Given the description of an element on the screen output the (x, y) to click on. 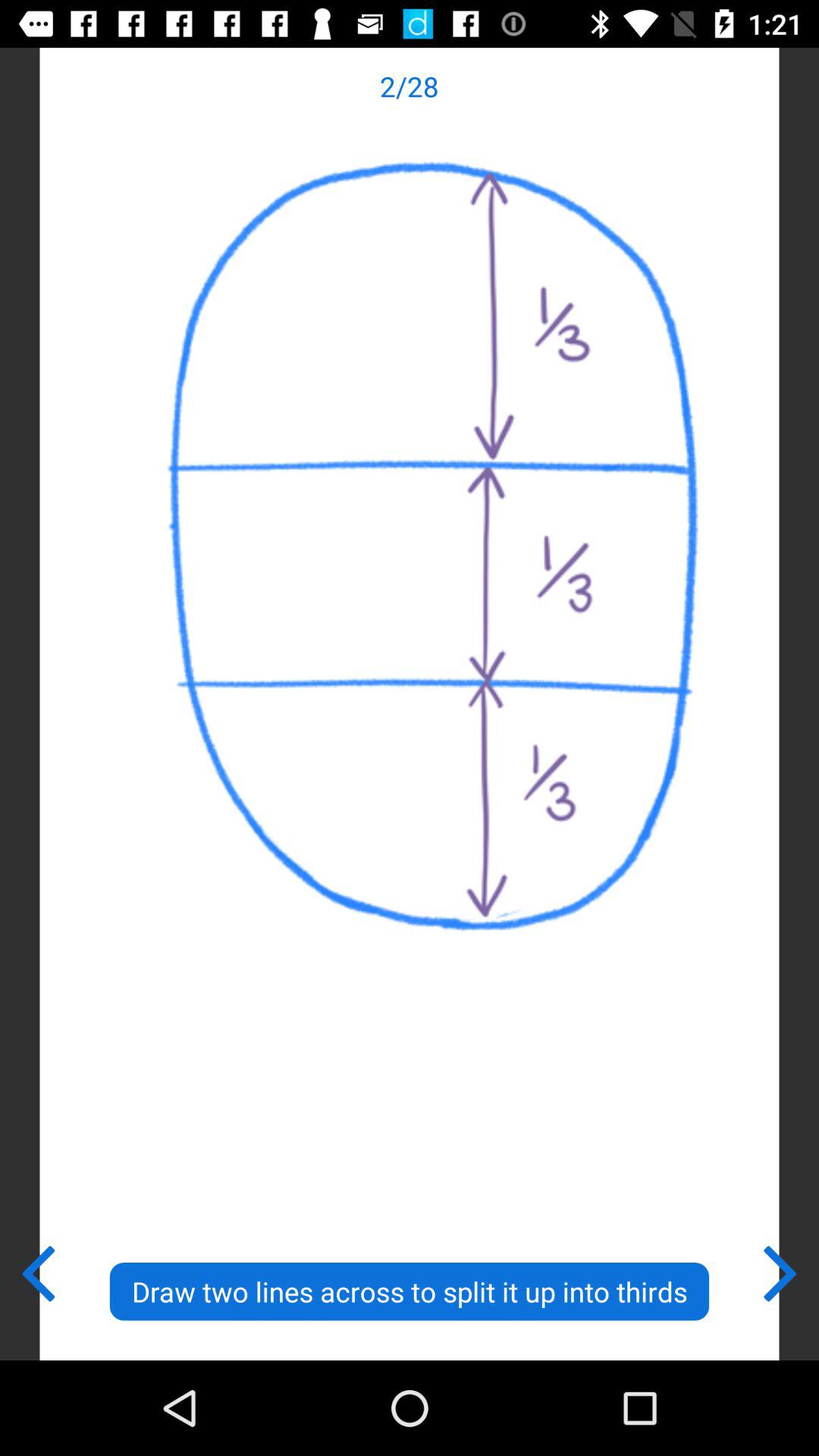
click item to the left of draw two lines item (37, 1270)
